Given the description of an element on the screen output the (x, y) to click on. 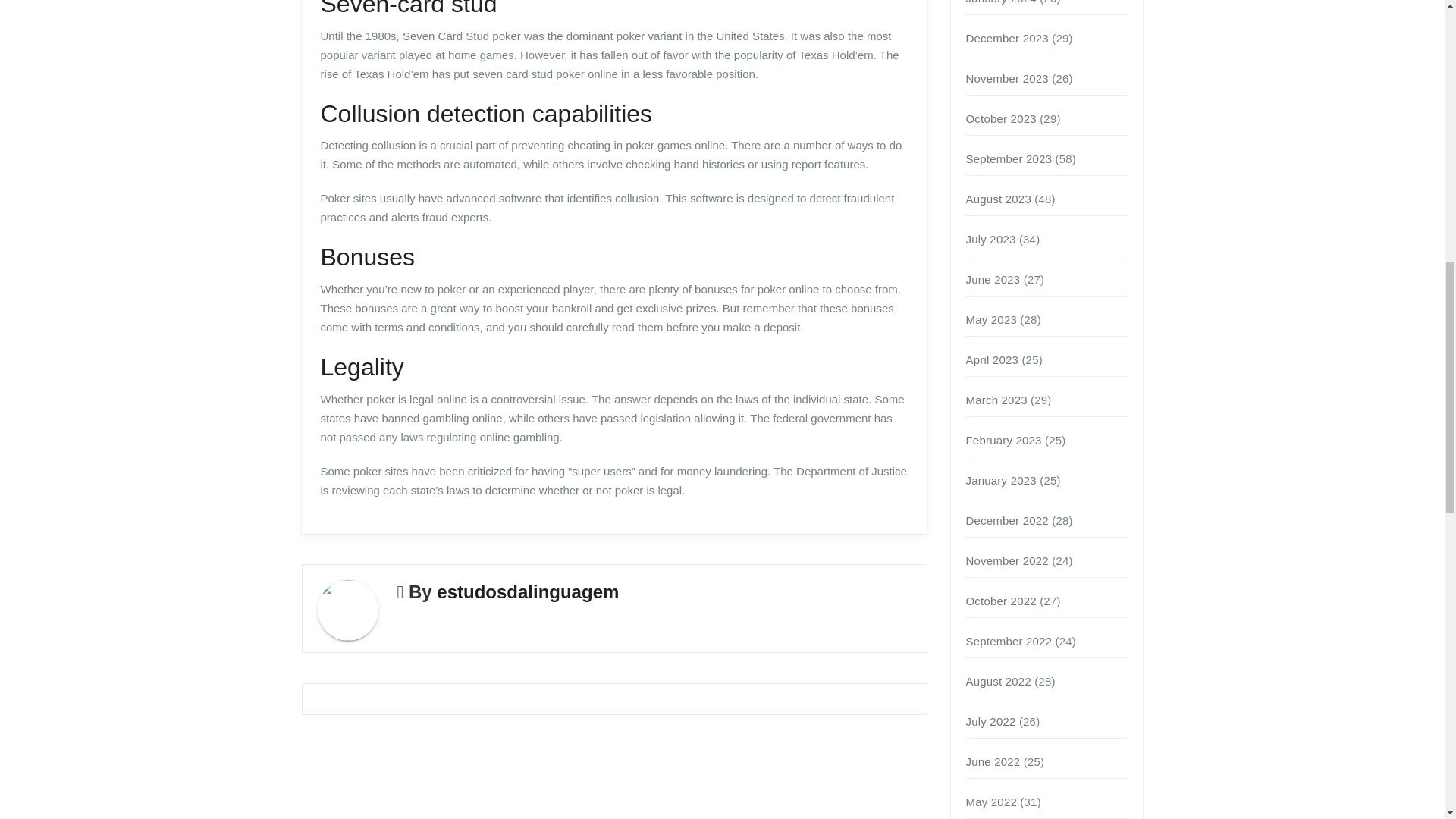
February 2023 (1004, 440)
November 2023 (1007, 78)
October 2023 (1001, 118)
December 2023 (1007, 38)
June 2023 (993, 278)
April 2023 (992, 359)
January 2023 (1001, 480)
September 2022 (1009, 640)
December 2022 (1007, 520)
July 2023 (991, 238)
August 2022 (998, 680)
July 2022 (991, 721)
October 2022 (1001, 600)
November 2022 (1007, 560)
June 2022 (993, 761)
